Given the description of an element on the screen output the (x, y) to click on. 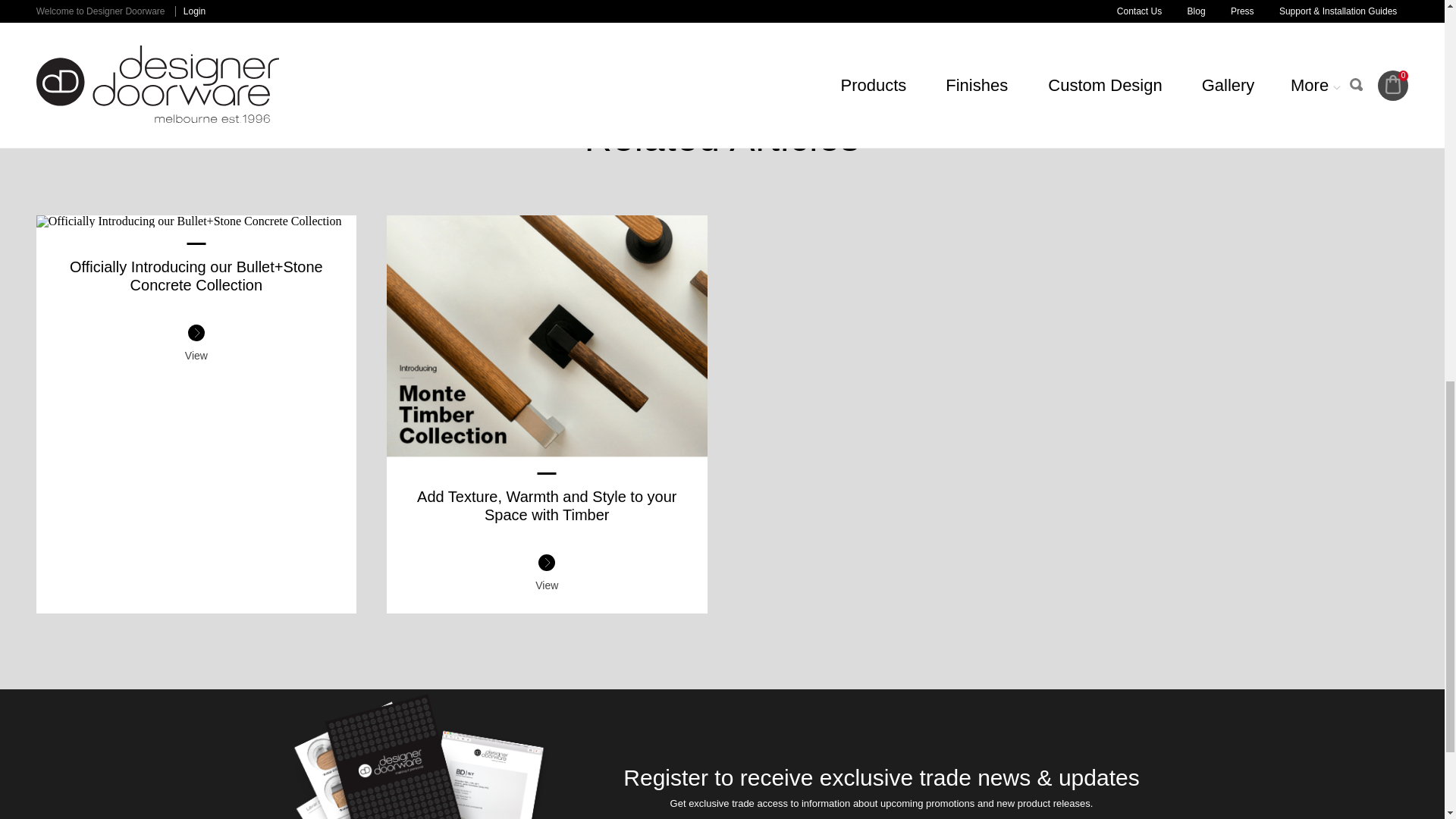
View (546, 572)
Add Texture, Warmth and Style to your Space with Timber (546, 450)
Add Texture, Warmth and Style to your Space with Timber (546, 505)
View (196, 342)
Add Texture, Warmth and Style to your Space with Timber (546, 505)
